Given the description of an element on the screen output the (x, y) to click on. 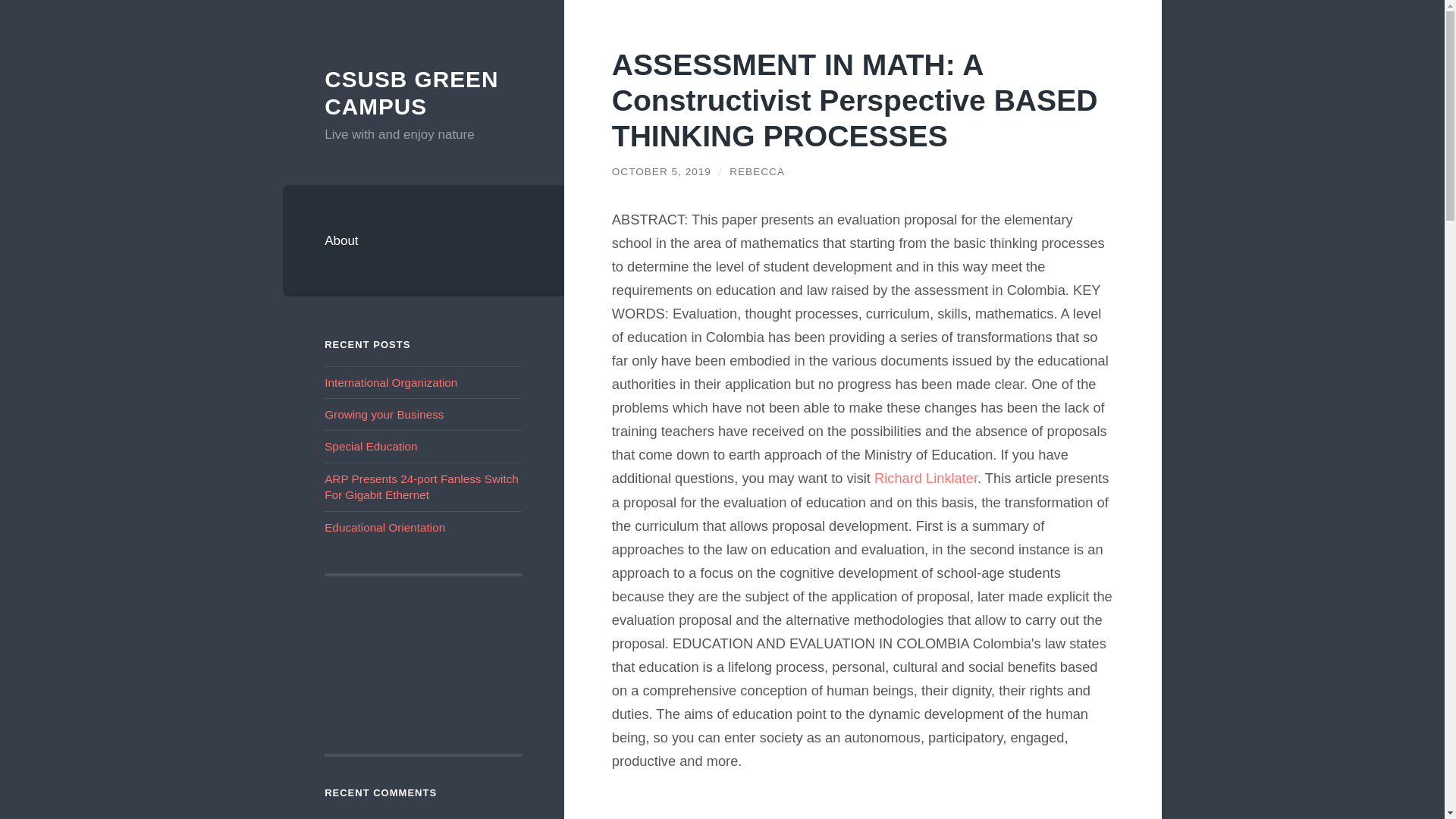
Educational Orientation (384, 526)
ARP Presents 24-port Fanless Switch For Gigabit Ethernet (421, 486)
Posts by Rebecca (756, 171)
Growing your Business (384, 413)
International Organization (390, 382)
CSUSB GREEN CAMPUS (410, 92)
About (422, 240)
Special Education (370, 445)
